Given the description of an element on the screen output the (x, y) to click on. 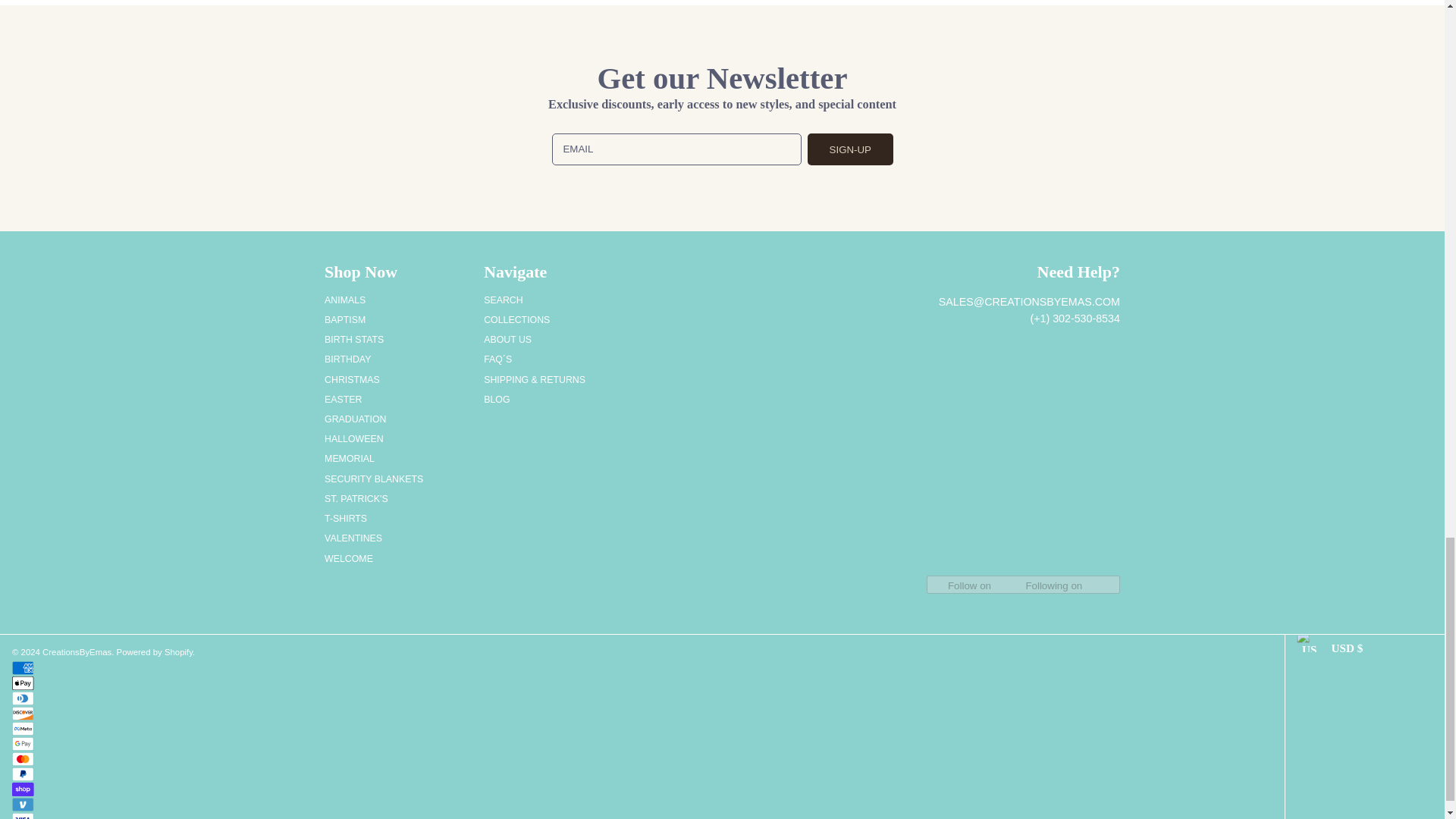
Diners Club (22, 698)
PayPal (22, 774)
Meta Pay (22, 728)
Apple Pay (22, 683)
Shop Pay (22, 789)
Google Pay (22, 744)
Mastercard (22, 758)
Visa (22, 816)
Venmo (22, 804)
American Express (22, 667)
Discover (22, 713)
